Given the description of an element on the screen output the (x, y) to click on. 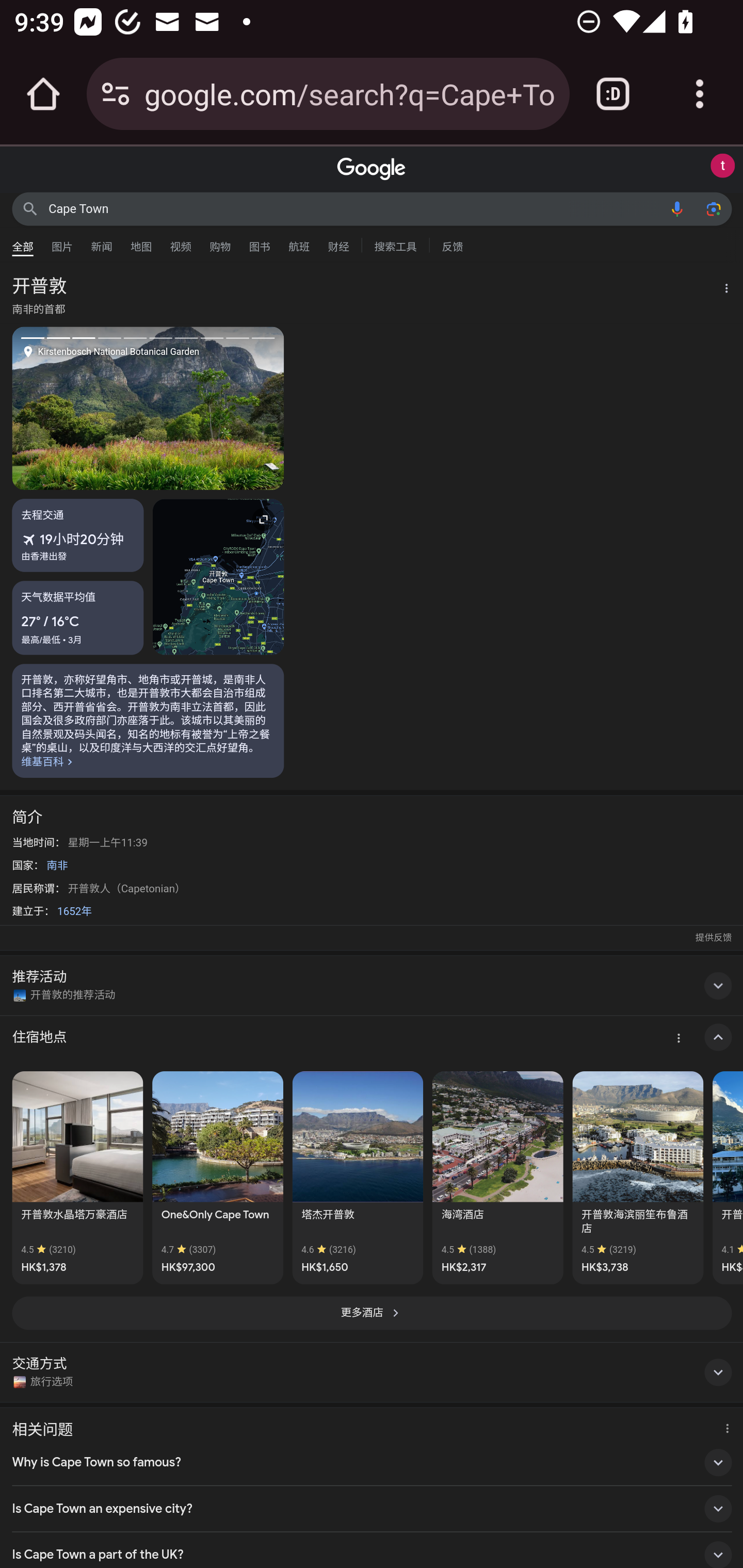
Open the home page (43, 93)
Connection is secure (115, 93)
Switch or close tabs (612, 93)
Customize and control Google Chrome (699, 93)
Google (371, 169)
Google 账号： test appium (testappium002@gmail.com) (722, 165)
Google 搜索 (29, 208)
使用拍照功能或照片进行搜索 (712, 208)
Cape Town (353, 208)
图片 (62, 241)
新闻 (101, 241)
地图 (141, 241)
视频 (180, 241)
购物 (219, 241)
图书 (259, 241)
航班 (299, 241)
财经 (338, 241)
搜索工具 (395, 244)
反馈 (452, 244)
更多选项 (720, 289)
上一张图片 (79, 407)
下一张图片 (215, 407)
去程交通 19小时20分钟 乘坐飞机 由香港出發 (77, 535)
展开地图 (217, 576)
天气数据平均值 27° / 16°C 最高/最低 • 3月 (77, 617)
%E9%96%8B%E6%99%AE%E6%95%A6 (147, 720)
南非 (57, 865)
1652年 (74, 910)
提供反馈 (713, 937)
推荐活动 … 开普敦的推荐活动 (371, 985)
住宿地点 … 开普敦的酒店 (371, 1037)
开普敦水晶塔万豪酒店 4.5 评分为 4.5 星（最高 5 星）， (3210) HK$1,378 (77, 1177)
塔杰开普敦 4.6 评分为 4.6 星（最高 5 星）， (3216) HK$1,650 (357, 1177)
海湾酒店 4.5 评分为 4.5 星（最高 5 星）， (1388) HK$2,317 (497, 1177)
开普敦海滨丽笙布鲁酒店 4.5 评分为 4.5 星（最高 5 星）， (3219) HK$3,738 (637, 1177)
更多酒店 (371, 1312)
交通方式 … 旅行选项 (371, 1371)
关于这条结果的详细信息 (724, 1425)
Why is Cape Town so famous? (371, 1462)
Is Cape Town an expensive city? (371, 1507)
Is Cape Town a part of the UK? (371, 1549)
